Given the description of an element on the screen output the (x, y) to click on. 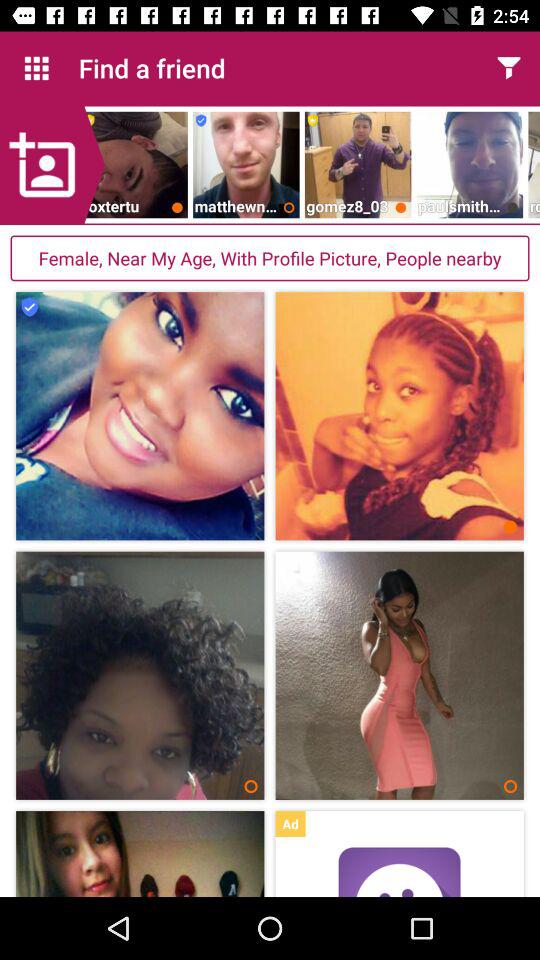
press app to the right of find a friend item (508, 67)
